Given the description of an element on the screen output the (x, y) to click on. 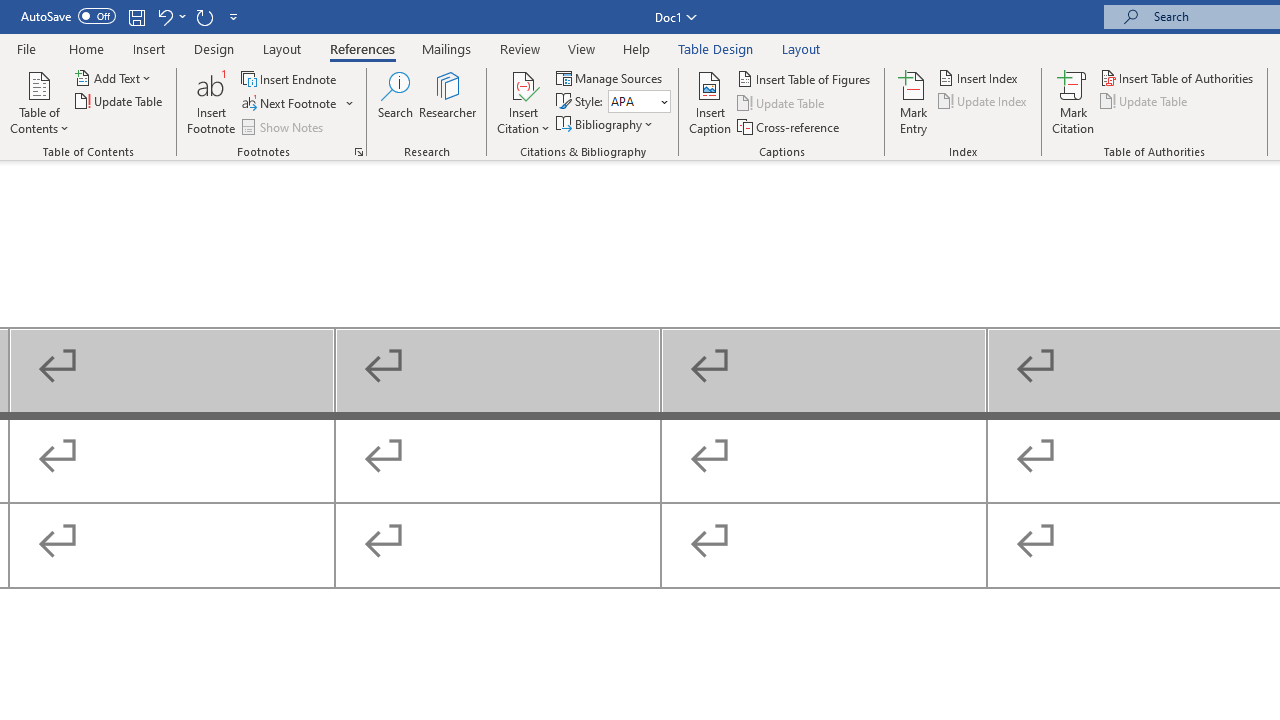
Manage Sources... (610, 78)
Insert Index... (979, 78)
Insert Caption... (710, 102)
Show Notes (284, 126)
Insert Table of Authorities... (1177, 78)
Footnote and Endnote Dialog... (358, 151)
